Given the description of an element on the screen output the (x, y) to click on. 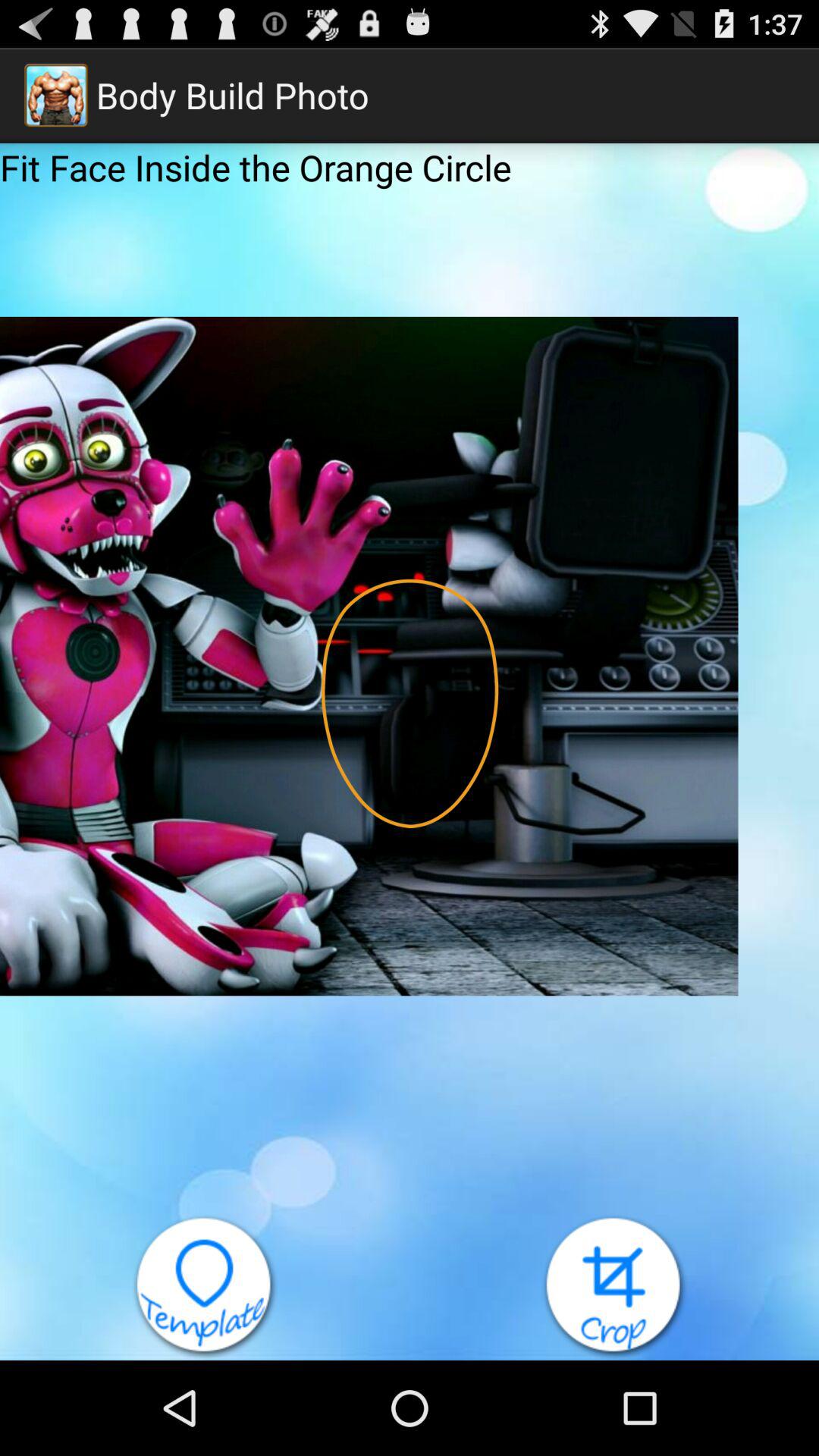
open the item at the bottom left corner (204, 1287)
